Given the description of an element on the screen output the (x, y) to click on. 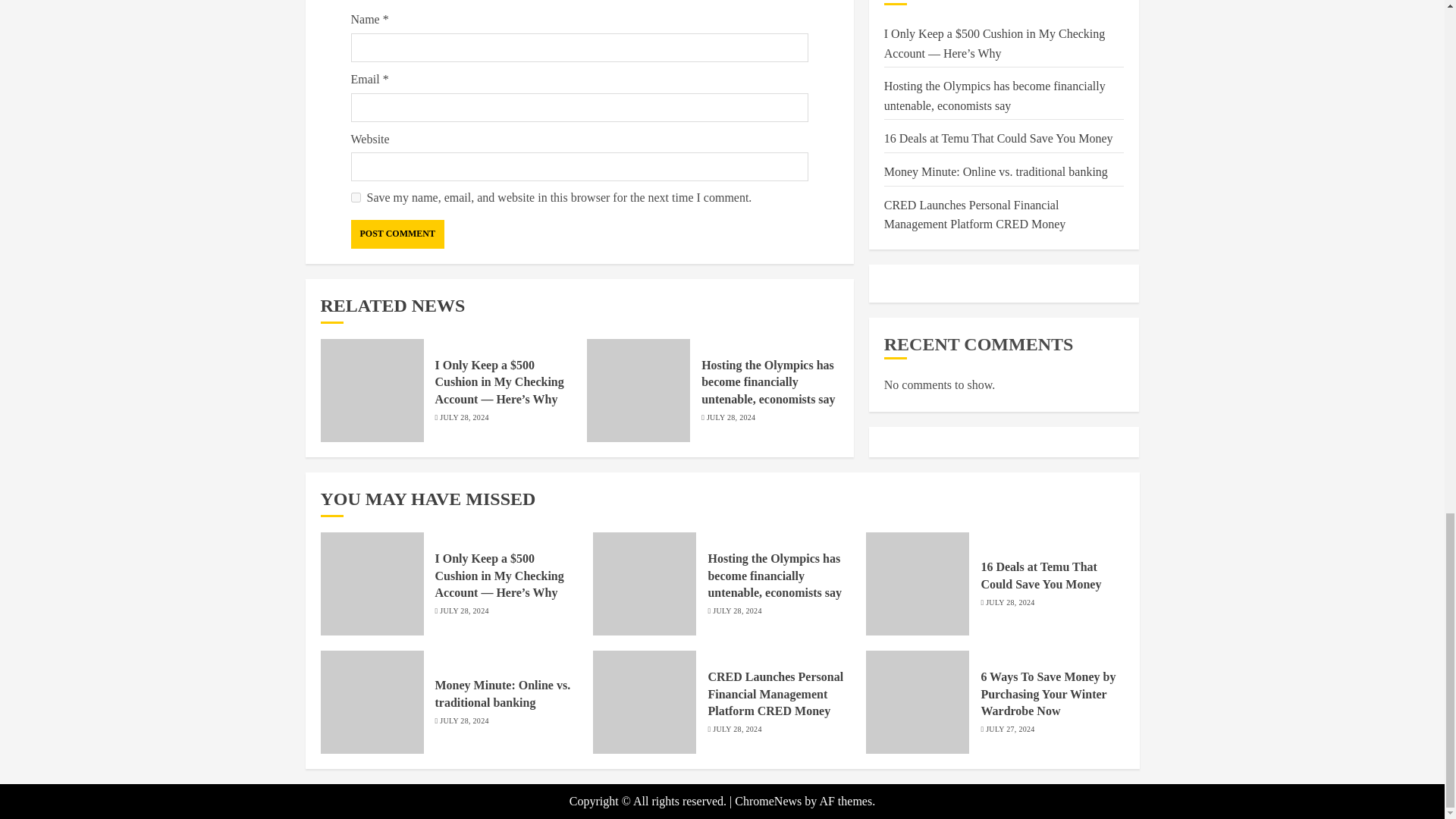
Post Comment (397, 234)
JULY 28, 2024 (463, 611)
JULY 28, 2024 (730, 417)
Post Comment (397, 234)
yes (354, 197)
JULY 28, 2024 (737, 611)
JULY 28, 2024 (463, 417)
